Given the description of an element on the screen output the (x, y) to click on. 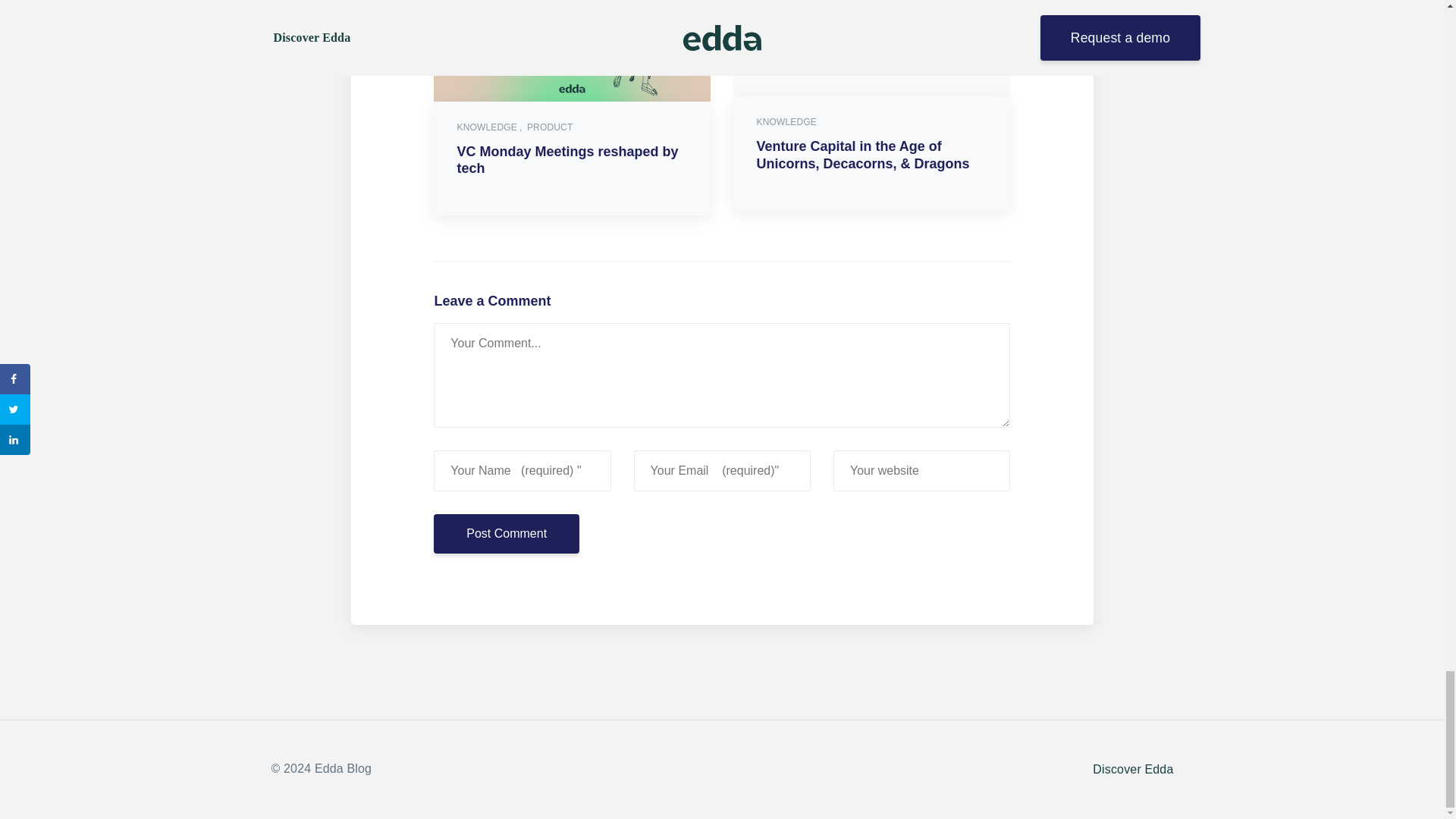
KNOWLEDGE (490, 127)
VC Monday Meetings reshaped by tech (567, 160)
KNOWLEDGE (785, 122)
Discover Edda (1133, 768)
Post Comment (505, 533)
Post Comment (505, 533)
VC Monday Meetings reshaped by tech (571, 50)
PRODUCT (549, 127)
